Given the description of an element on the screen output the (x, y) to click on. 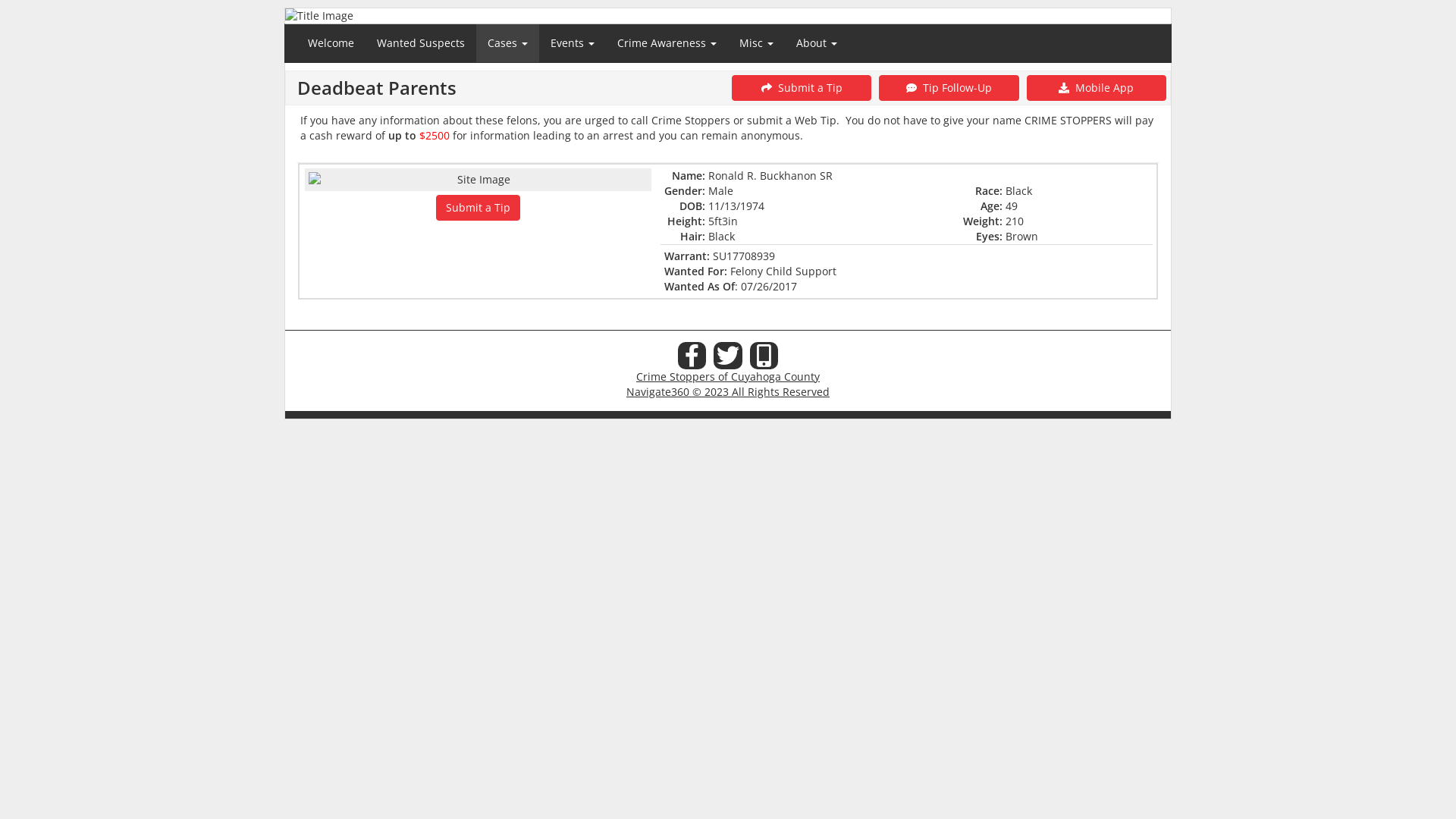
Submit a Tip Element type: text (478, 207)
 Submit a Tip Element type: text (801, 87)
Welcome Element type: text (330, 43)
Events Element type: text (572, 43)
Our Mobile App Element type: hover (763, 355)
About Element type: text (816, 43)
 Mobile App Element type: text (1096, 87)
Cases Element type: text (507, 43)
Ronald R. Buckhanon SR Element type: text (770, 175)
Wanted Suspects Element type: text (420, 43)
 Tip Follow-Up Element type: text (948, 87)
Crime Stoppers of Cuyahoga County Element type: text (727, 376)
Misc Element type: text (756, 43)
Crime Awareness Element type: text (666, 43)
